Given the description of an element on the screen output the (x, y) to click on. 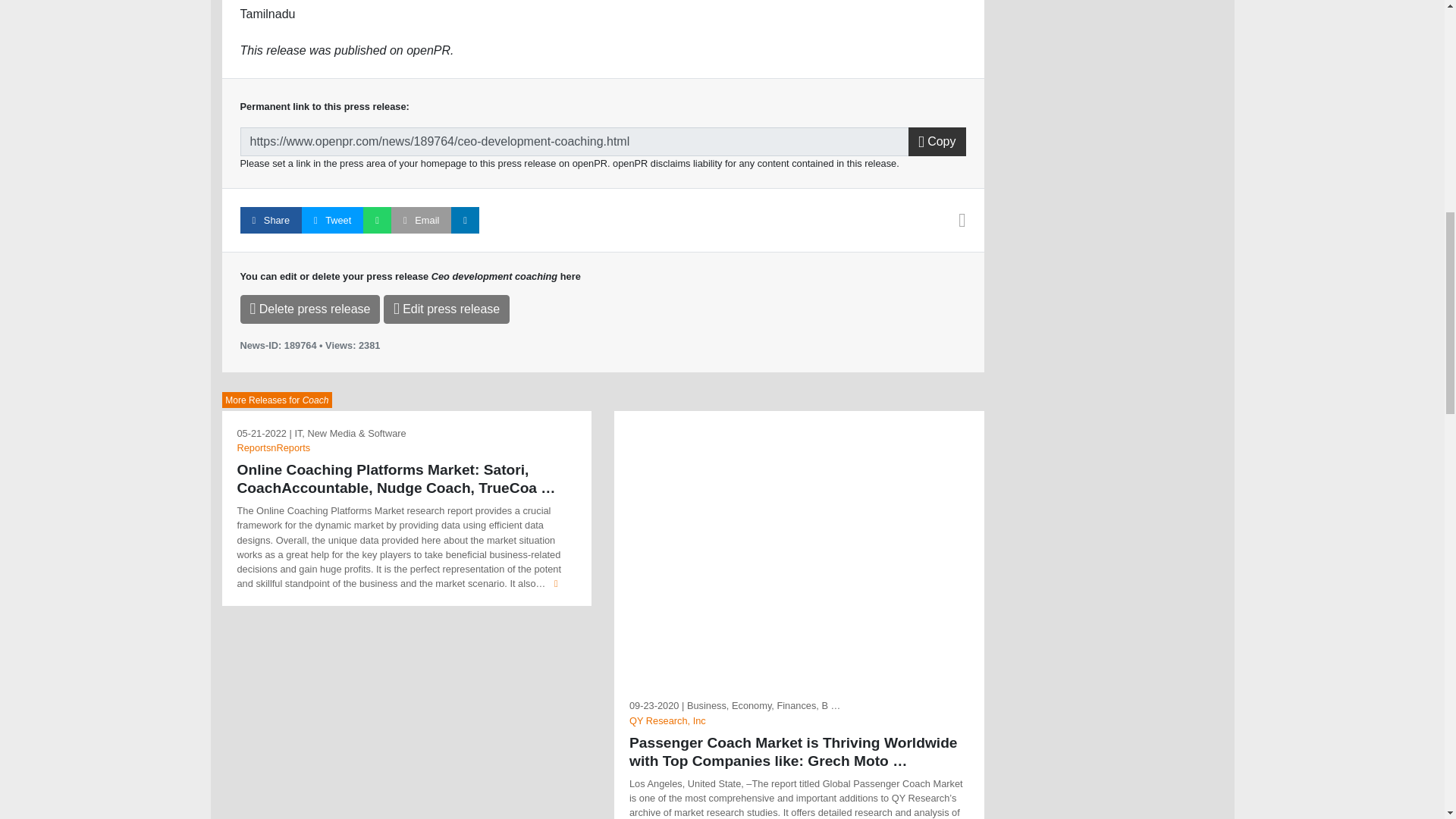
Email (421, 220)
Permalink (574, 141)
WhatsApp (376, 220)
LinkedIn (465, 220)
Facebook (270, 220)
